Given the description of an element on the screen output the (x, y) to click on. 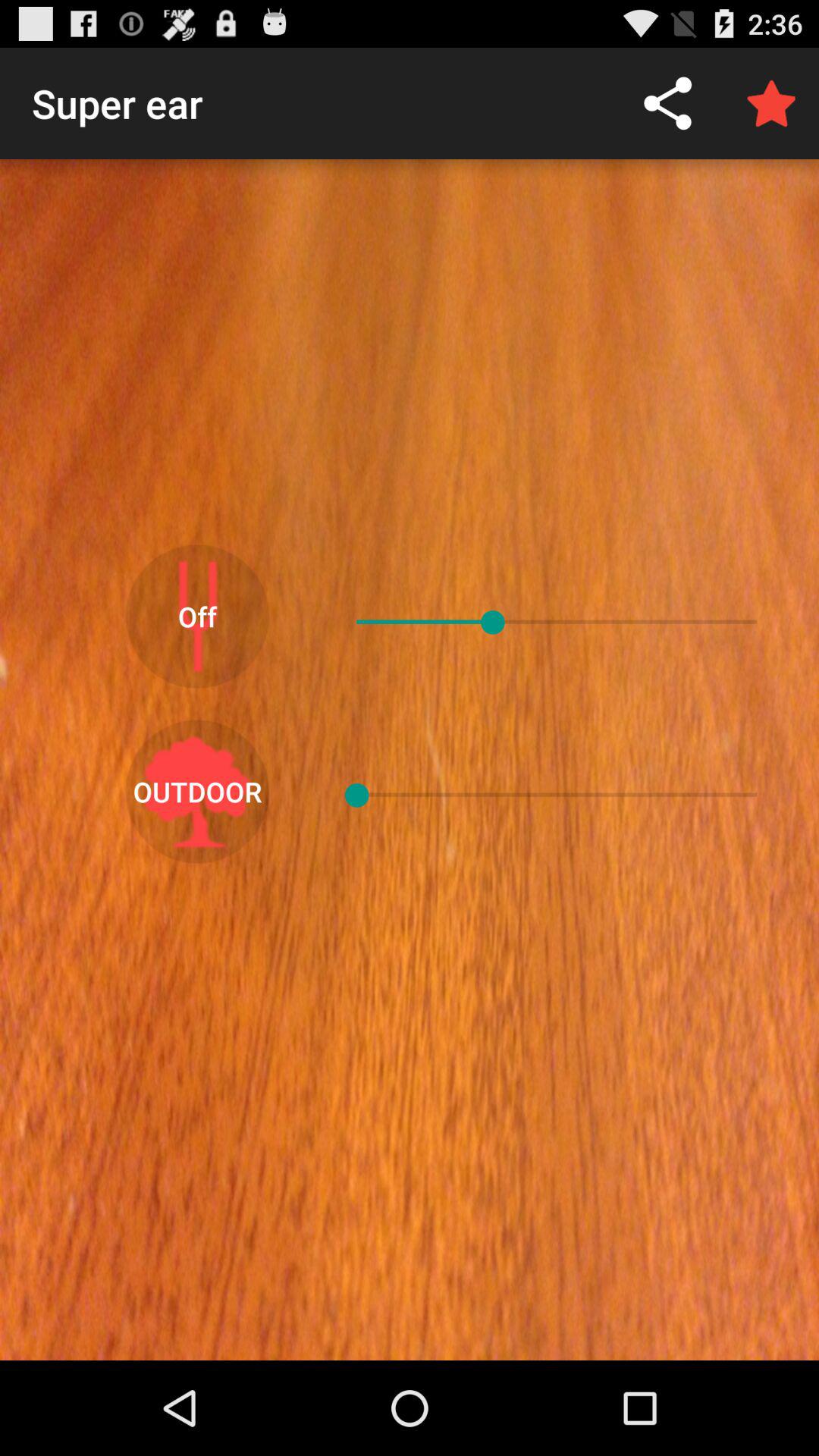
flip to the off (196, 616)
